Given the description of an element on the screen output the (x, y) to click on. 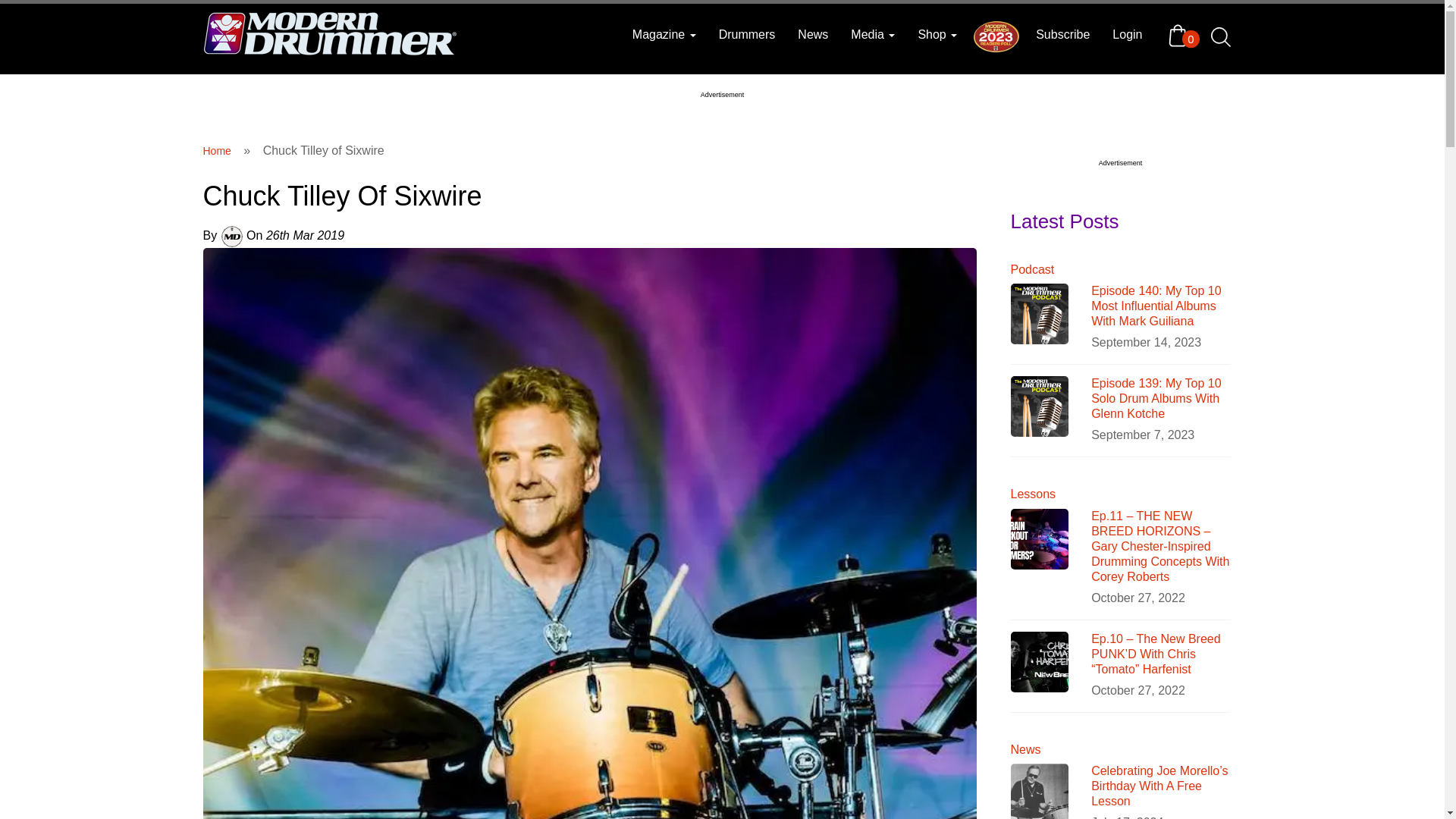
Shop (936, 34)
0 (1180, 35)
View your Orders (1180, 35)
Media (872, 34)
subscribe (1062, 34)
Subscribe (1062, 34)
Magazine (664, 34)
Drummers (747, 34)
